Given the description of an element on the screen output the (x, y) to click on. 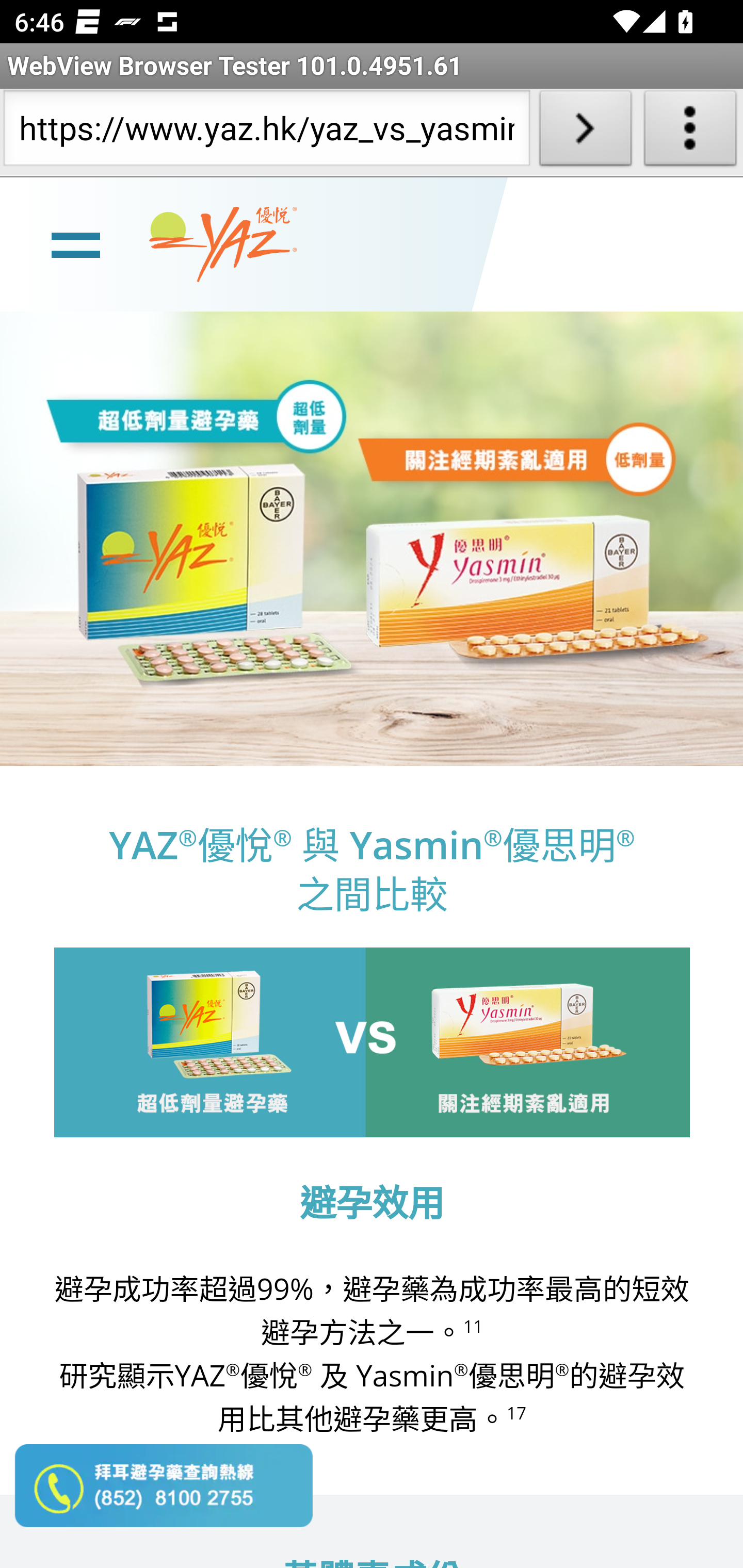
Load URL (585, 132)
About WebView (690, 132)
www.yaz (222, 244)
line Toggle burger menu (75, 242)
